Given the description of an element on the screen output the (x, y) to click on. 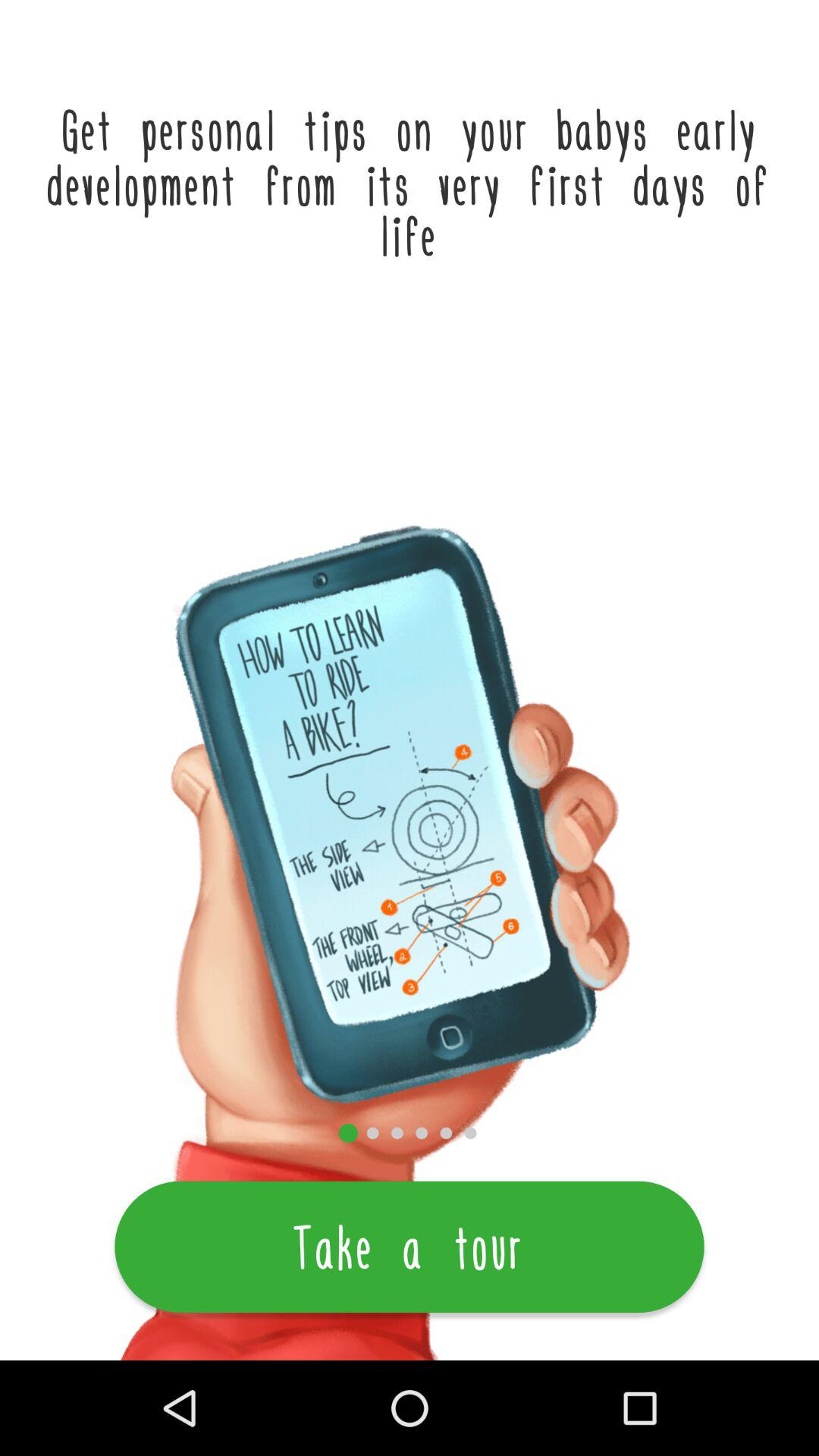
open the take a tour icon (409, 1246)
